Given the description of an element on the screen output the (x, y) to click on. 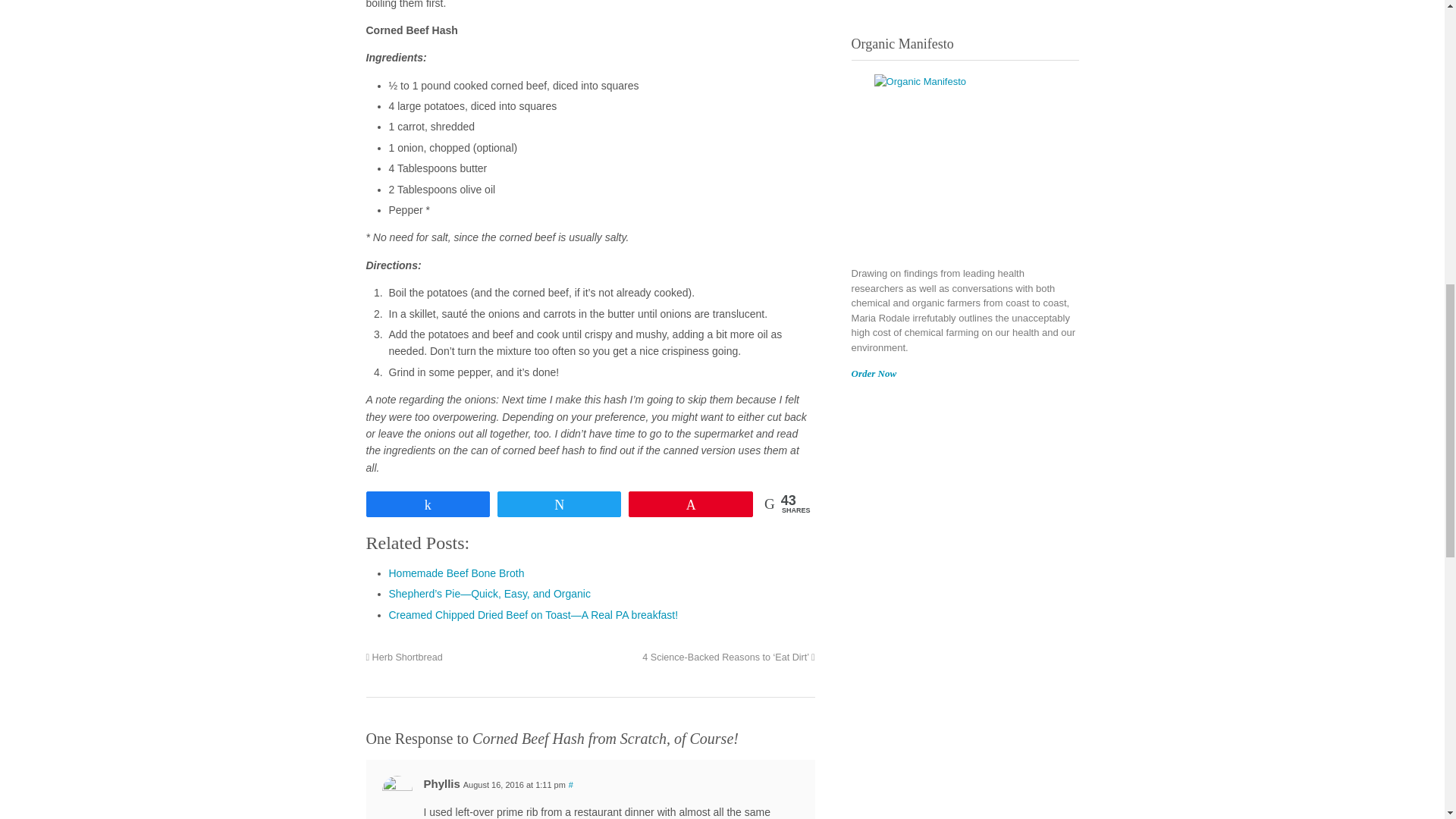
Herb Shortbread (403, 656)
Homemade Beef Bone Broth (456, 573)
Homemade Beef Bone Broth (456, 573)
